Given the description of an element on the screen output the (x, y) to click on. 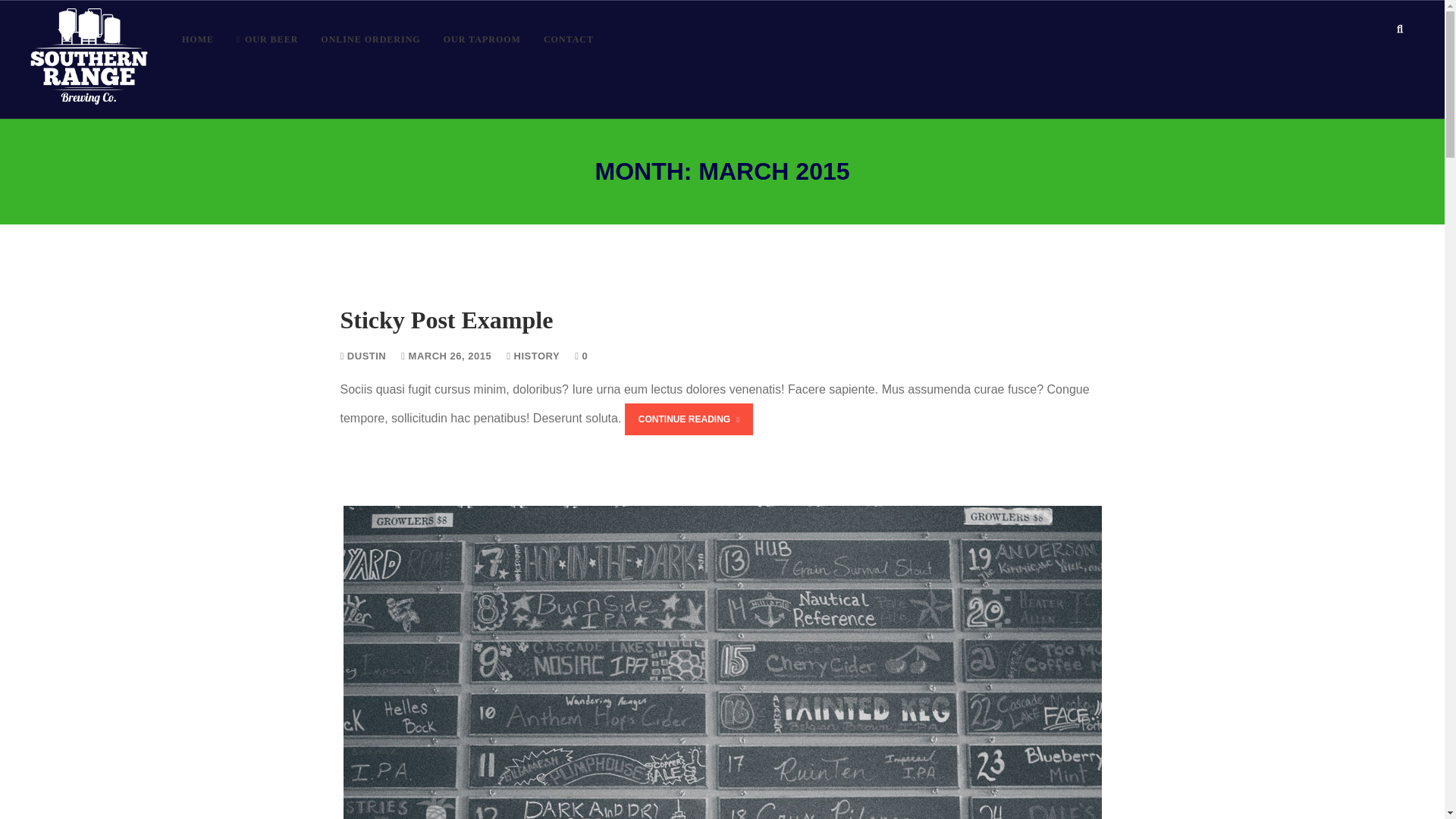
CONTACT (568, 38)
Southern Range Brewing (89, 59)
Submit (27, 18)
OUR TAPROOM (482, 38)
Sticky Post Example (446, 319)
OUR BEER (266, 38)
DUSTIN (362, 355)
ONLINE ORDERING (369, 38)
MARCH 26, 2015 (446, 355)
